Given the description of an element on the screen output the (x, y) to click on. 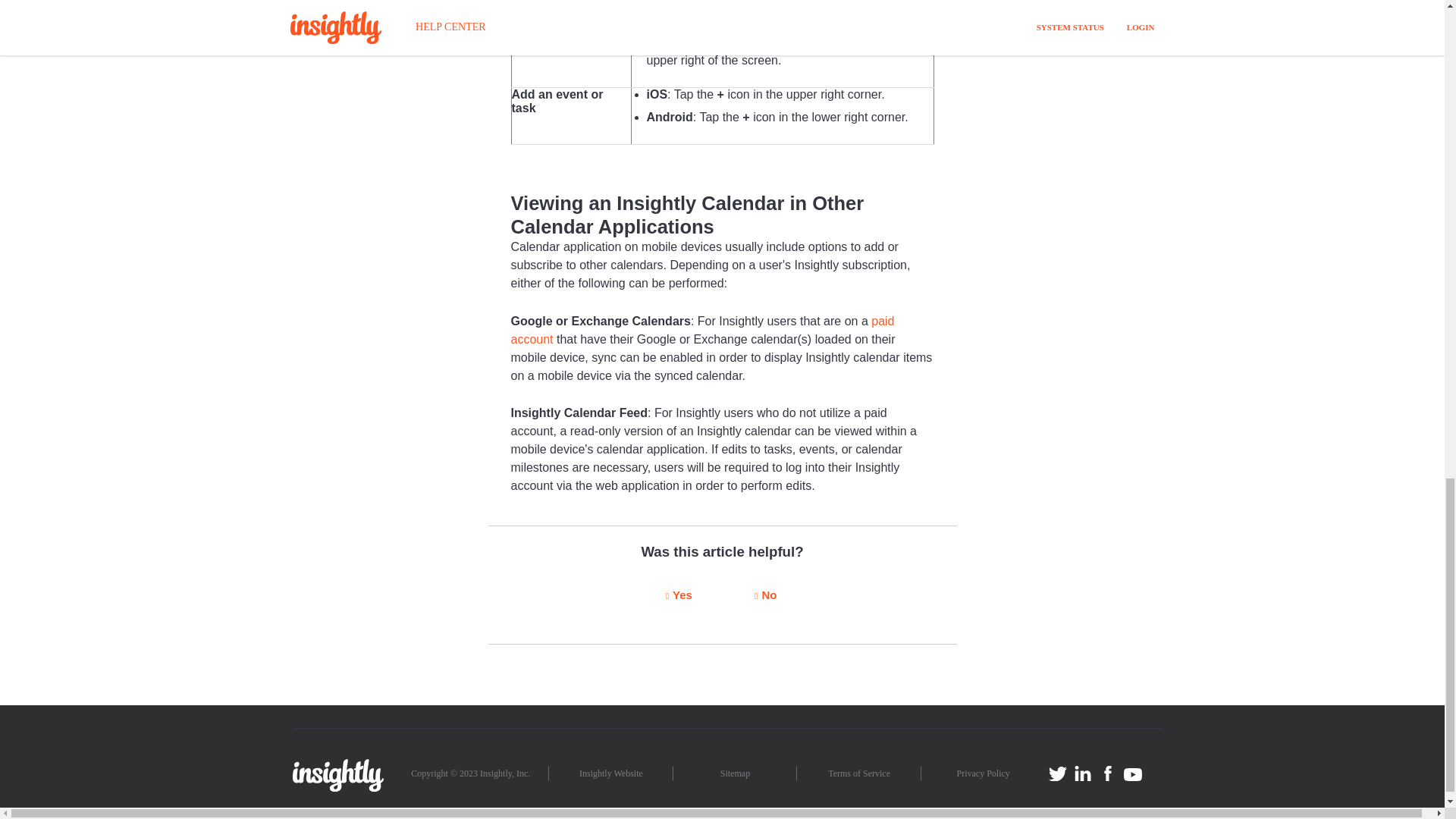
Yes (679, 595)
paid account (703, 329)
Terms of Service (859, 773)
Privacy Policy (983, 773)
Sitemap (735, 773)
Insightly Website (610, 773)
No (765, 595)
